Given the description of an element on the screen output the (x, y) to click on. 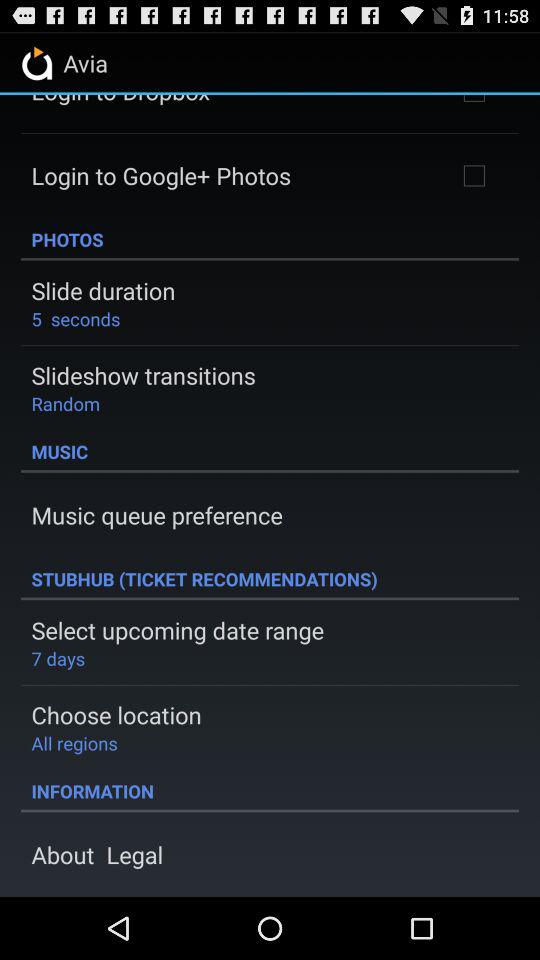
scroll until the about  legal item (97, 854)
